Given the description of an element on the screen output the (x, y) to click on. 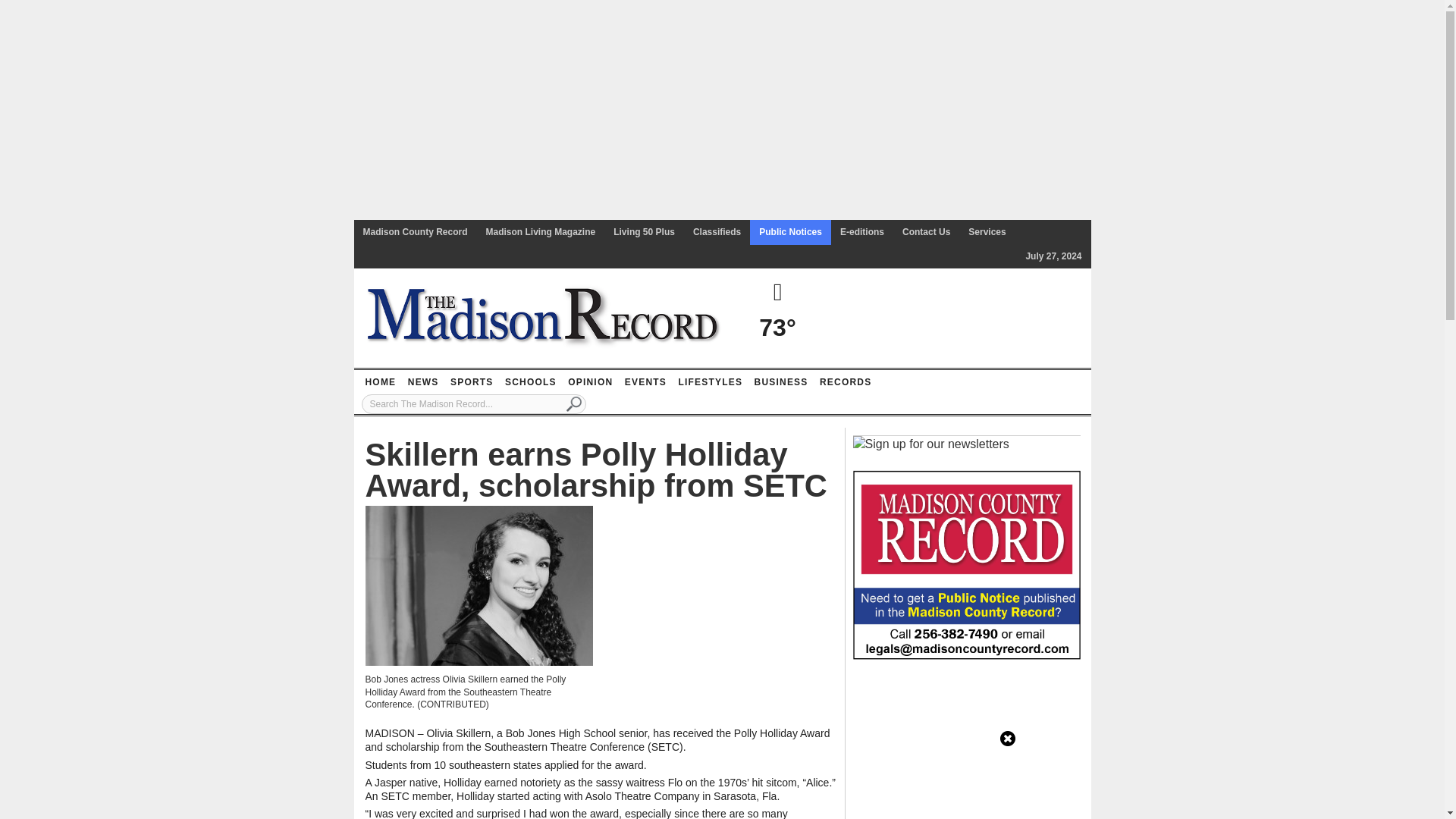
Go (574, 403)
SCHOOLS (530, 381)
3rd party ad content (965, 746)
OPINION (589, 381)
Living 50 Plus (644, 232)
HOME (379, 381)
Public Notices (790, 232)
BUSINESS (781, 381)
Madison County Record (414, 232)
RECORDS (845, 381)
Get Legals or Public Notices Published (965, 563)
EVENTS (645, 381)
Go (574, 403)
Madison Living Magazine (541, 232)
